Given the description of an element on the screen output the (x, y) to click on. 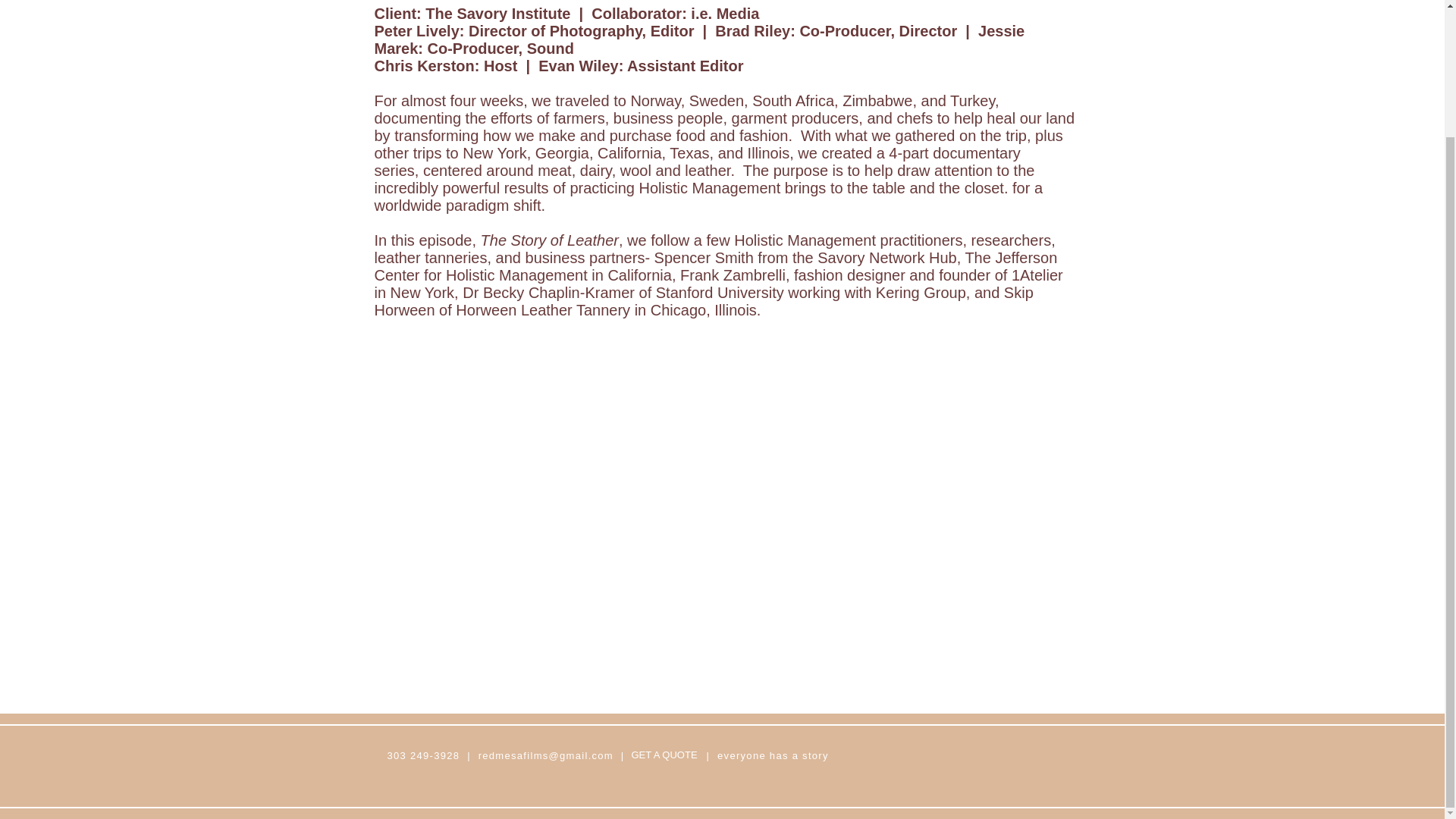
GET A QUOTE (663, 755)
